Given the description of an element on the screen output the (x, y) to click on. 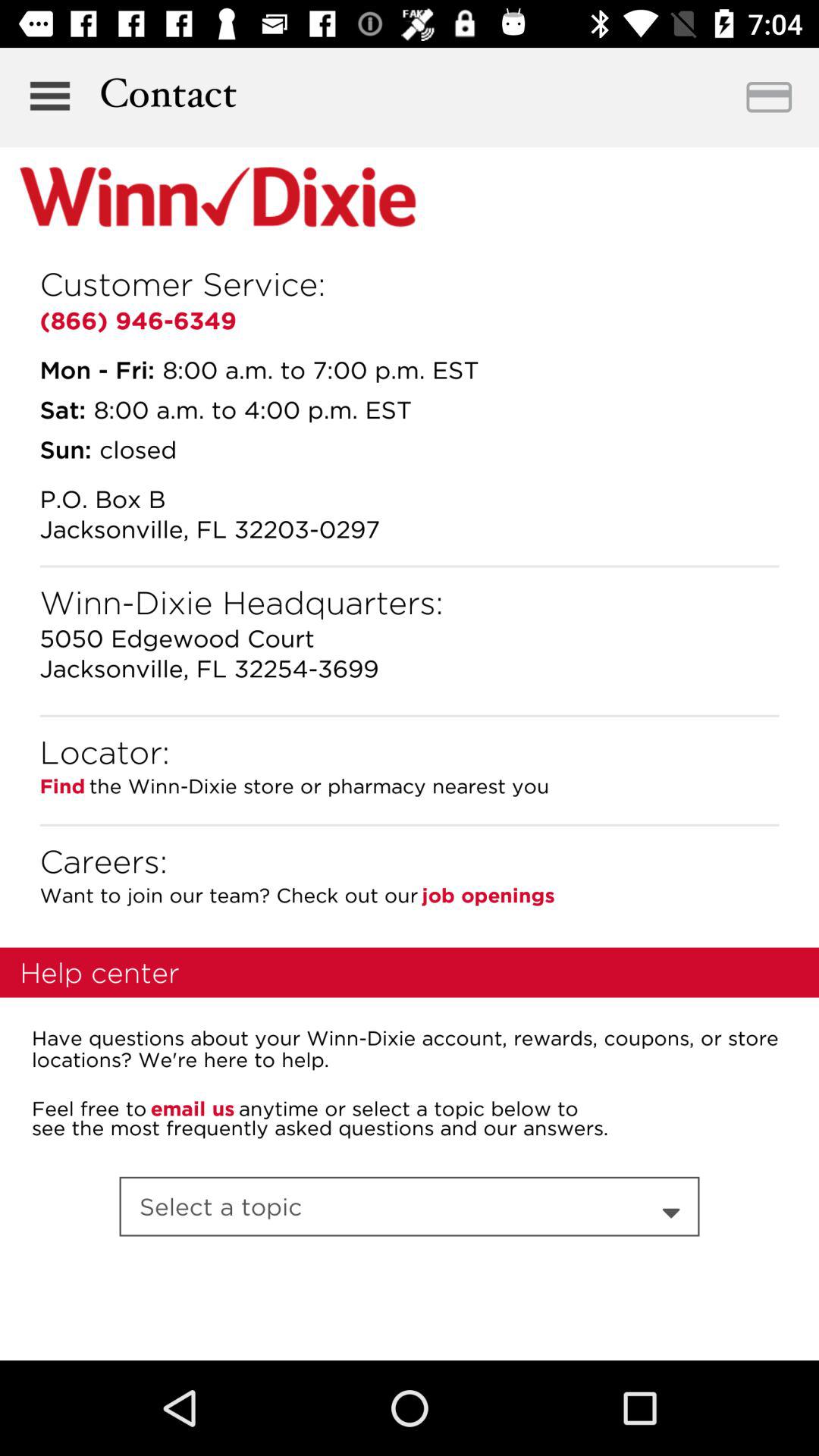
turn off the icon above sat: (96, 369)
